Given the description of an element on the screen output the (x, y) to click on. 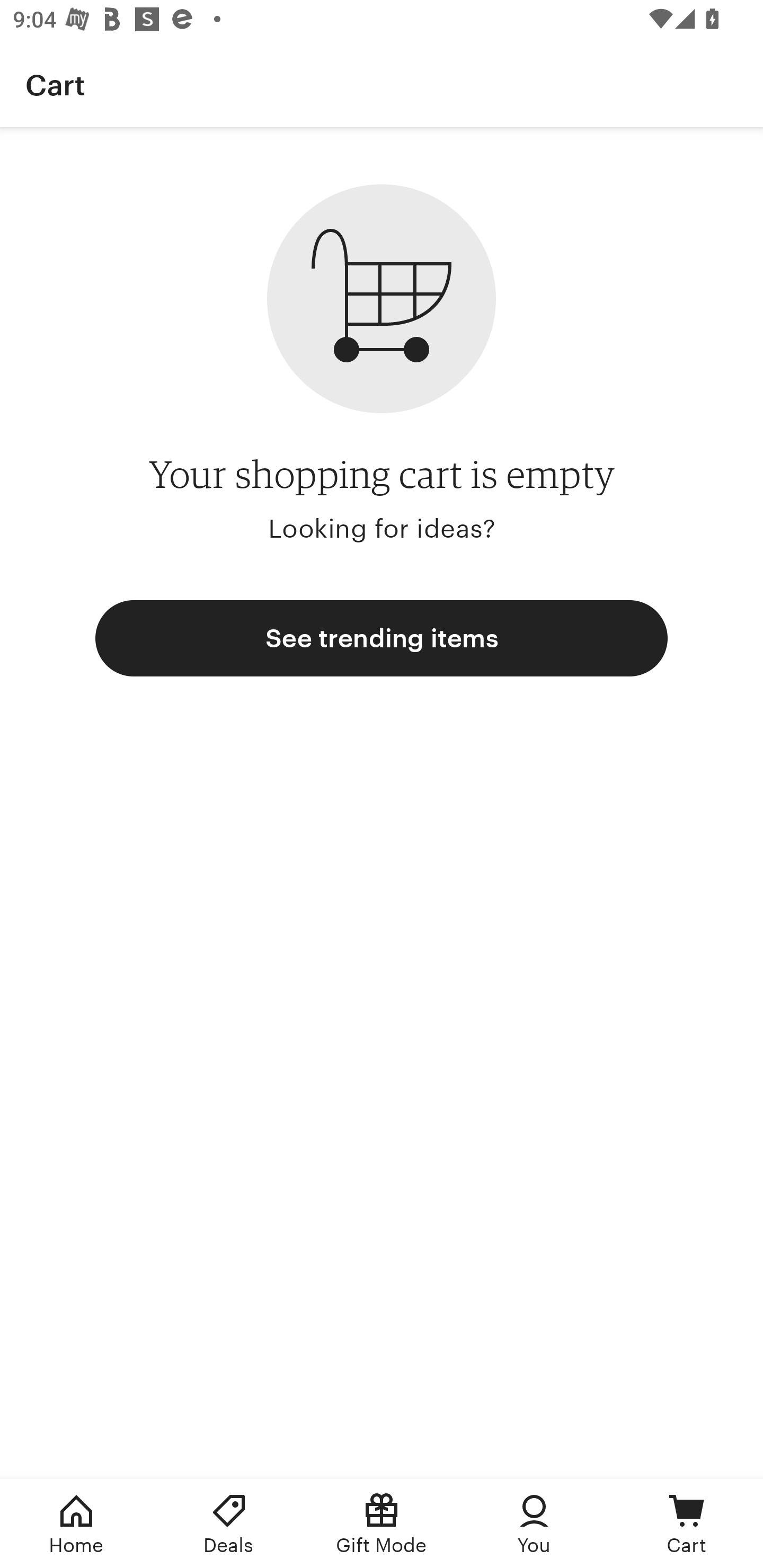
See trending items (381, 637)
Home (76, 1523)
Deals (228, 1523)
Gift Mode (381, 1523)
You (533, 1523)
